Given the description of an element on the screen output the (x, y) to click on. 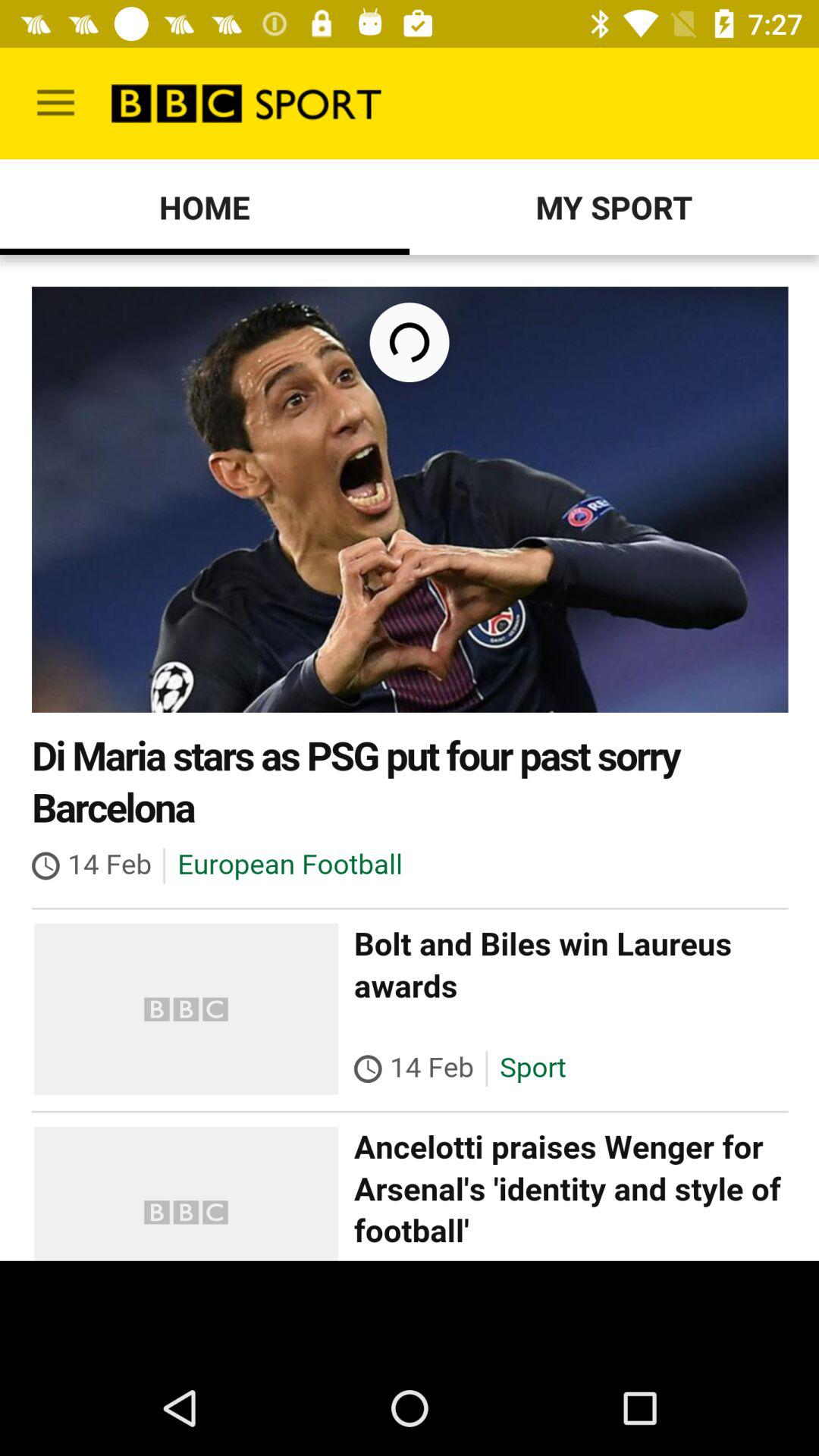
video replay toggle (409, 757)
